Given the description of an element on the screen output the (x, y) to click on. 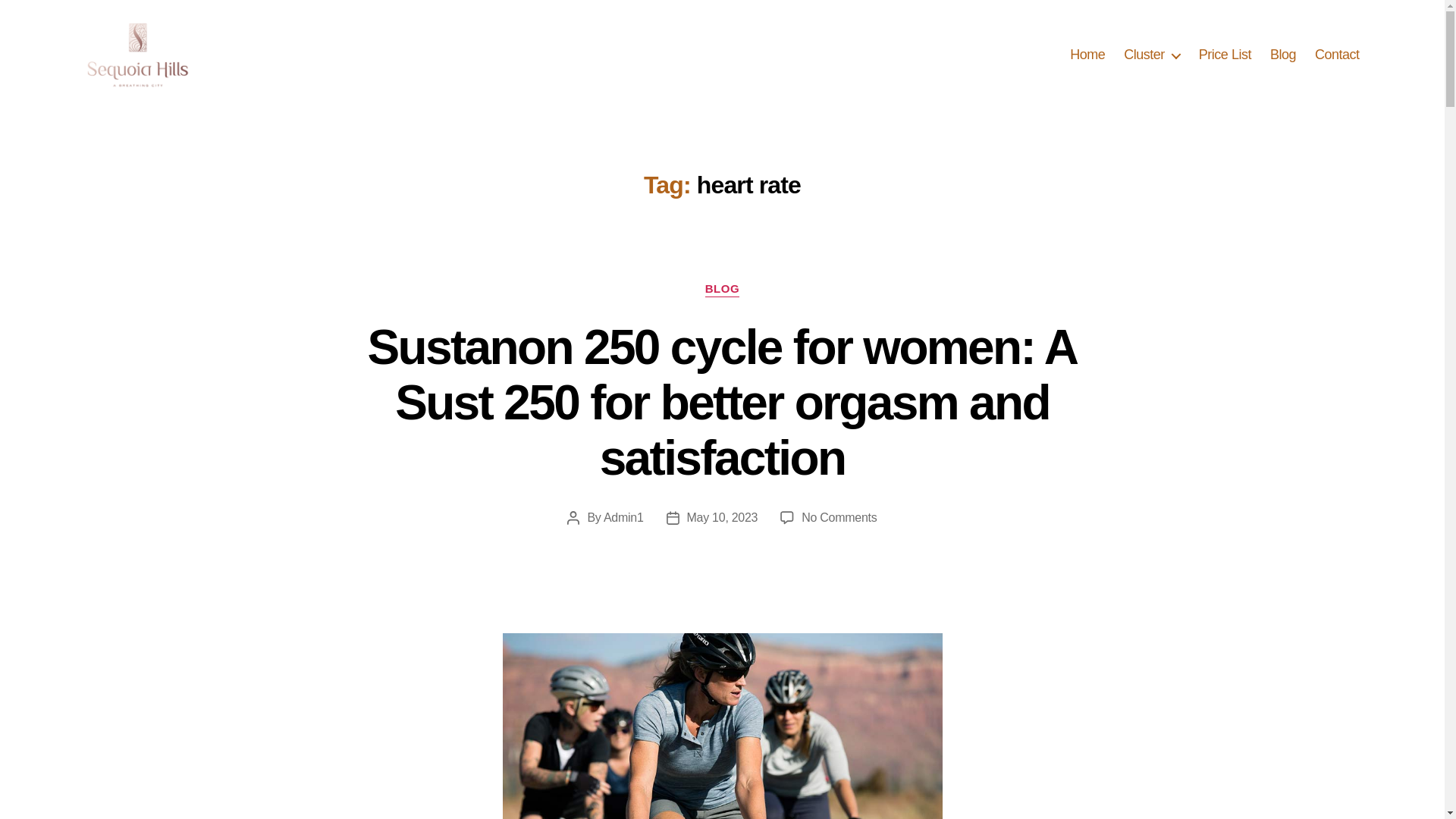
Home (1087, 54)
start position (722, 726)
BLOG (721, 289)
Admin1 (623, 517)
Price List (1224, 54)
May 10, 2023 (722, 517)
Contact (1336, 54)
Cluster (1151, 54)
Blog (1282, 54)
